Given the description of an element on the screen output the (x, y) to click on. 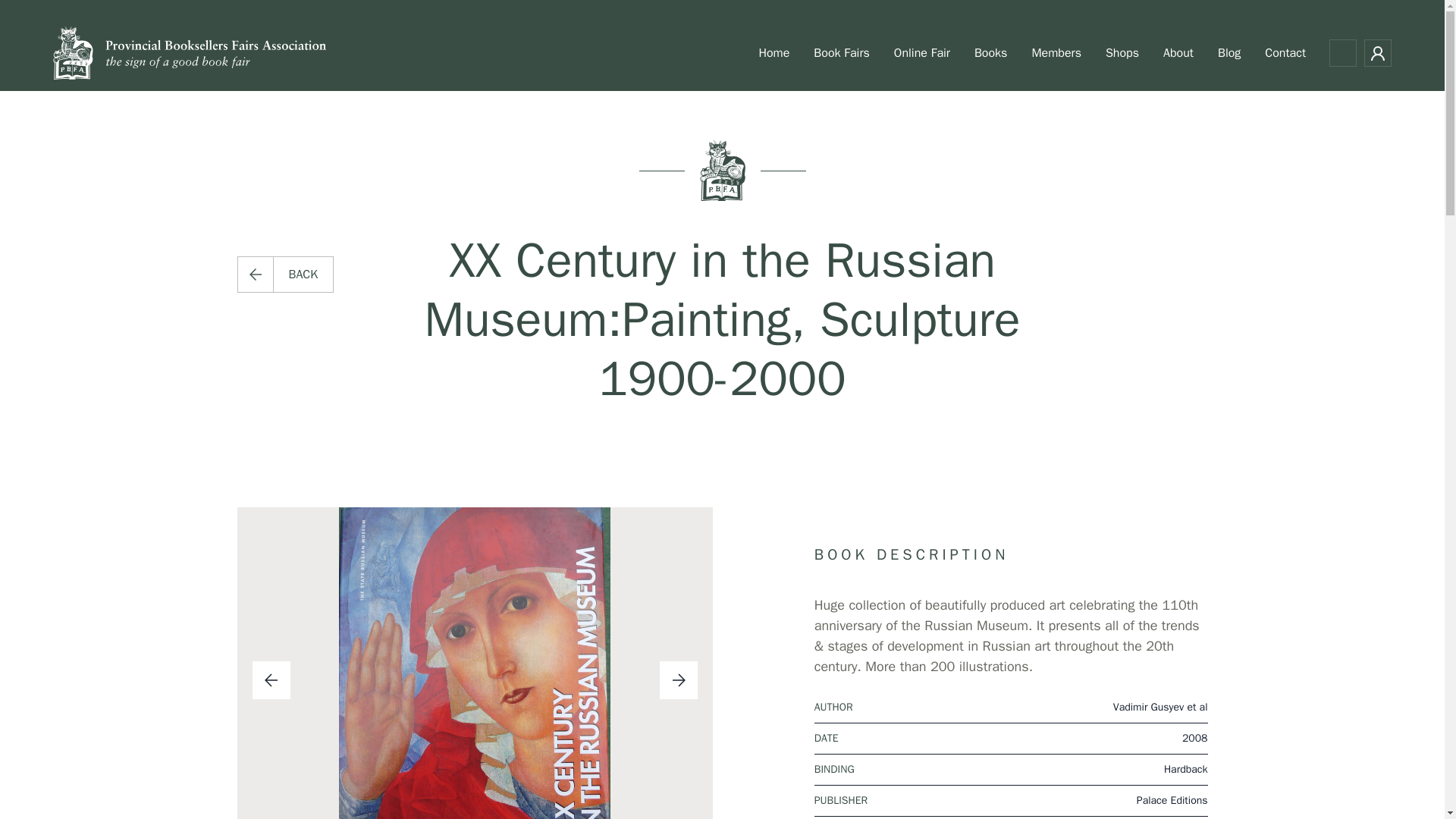
Books (990, 52)
Members (1056, 52)
BACK (284, 274)
Online Fair (921, 52)
Home (773, 52)
Blog (1229, 52)
Home Page (189, 52)
About (1178, 52)
Contact (1285, 52)
Book Fairs (841, 52)
